Given the description of an element on the screen output the (x, y) to click on. 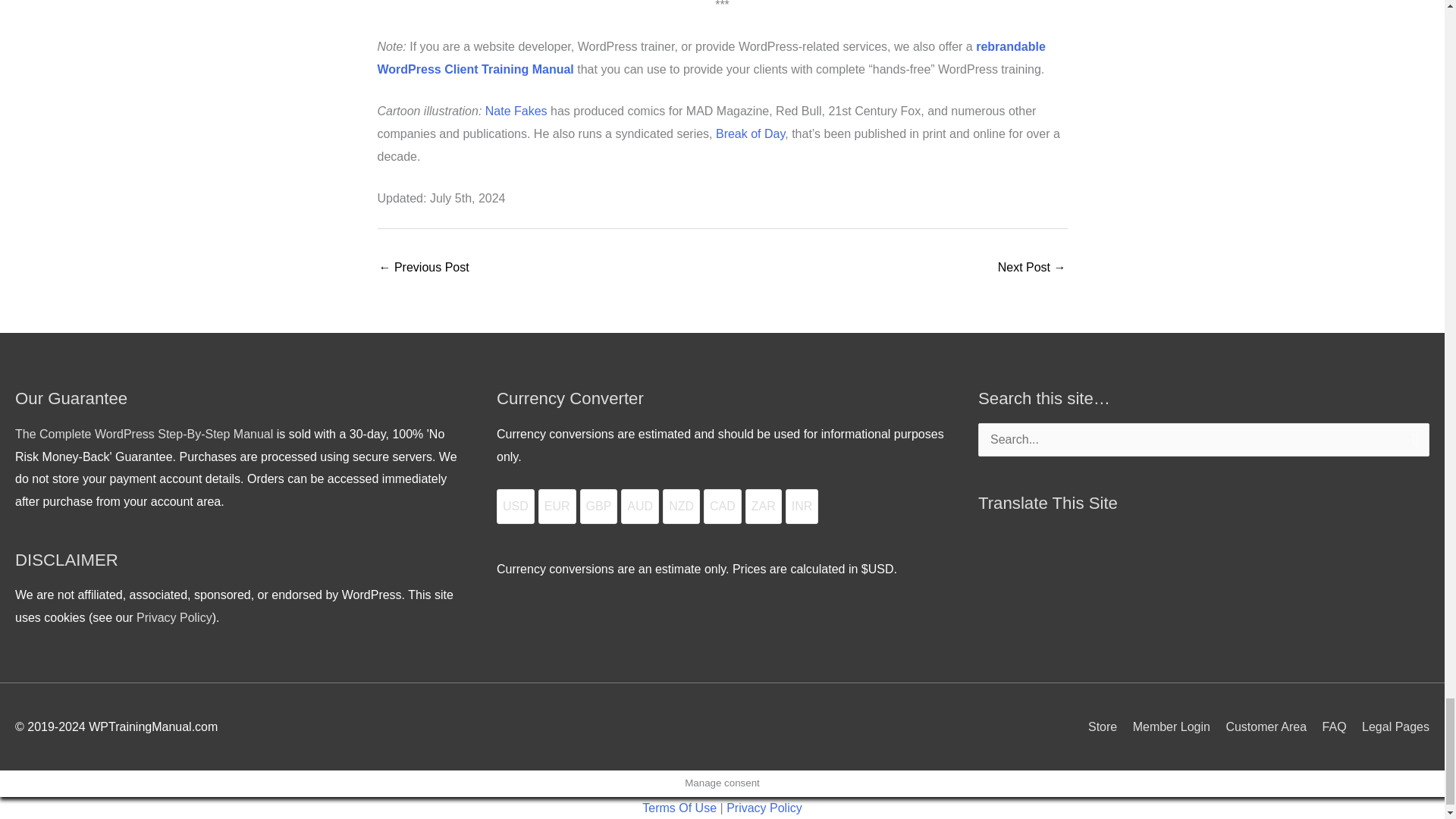
WordPress 5.8 (423, 268)
